Given the description of an element on the screen output the (x, y) to click on. 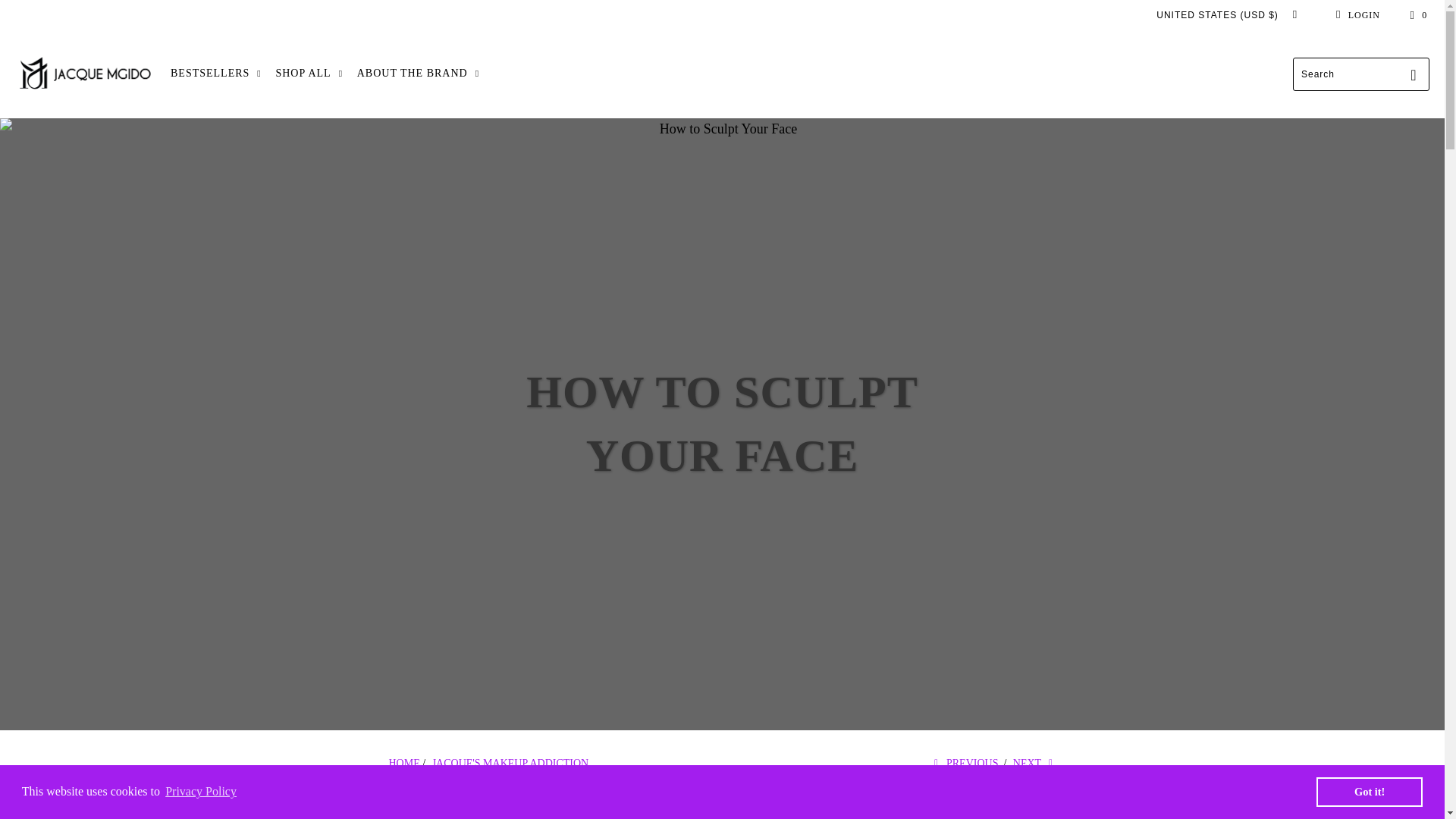
JacqueMgidoCosmetics (403, 763)
Privacy Policy (200, 791)
JacqueMgidoCosmetics (84, 73)
Jacque's Makeup Addiction (510, 763)
My Account  (1355, 15)
Got it! (1369, 791)
